Given the description of an element on the screen output the (x, y) to click on. 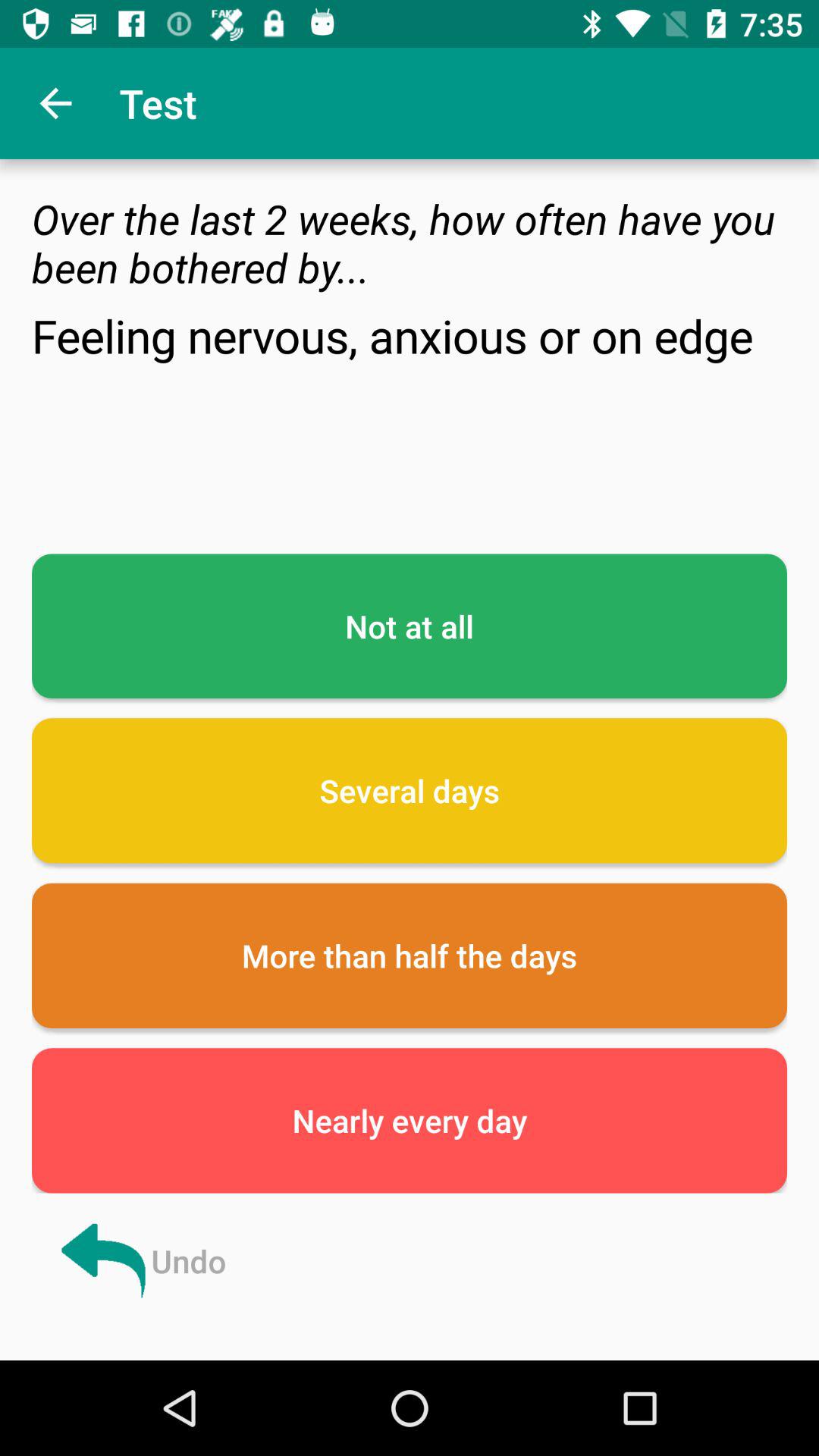
press the not at all item (409, 625)
